Given the description of an element on the screen output the (x, y) to click on. 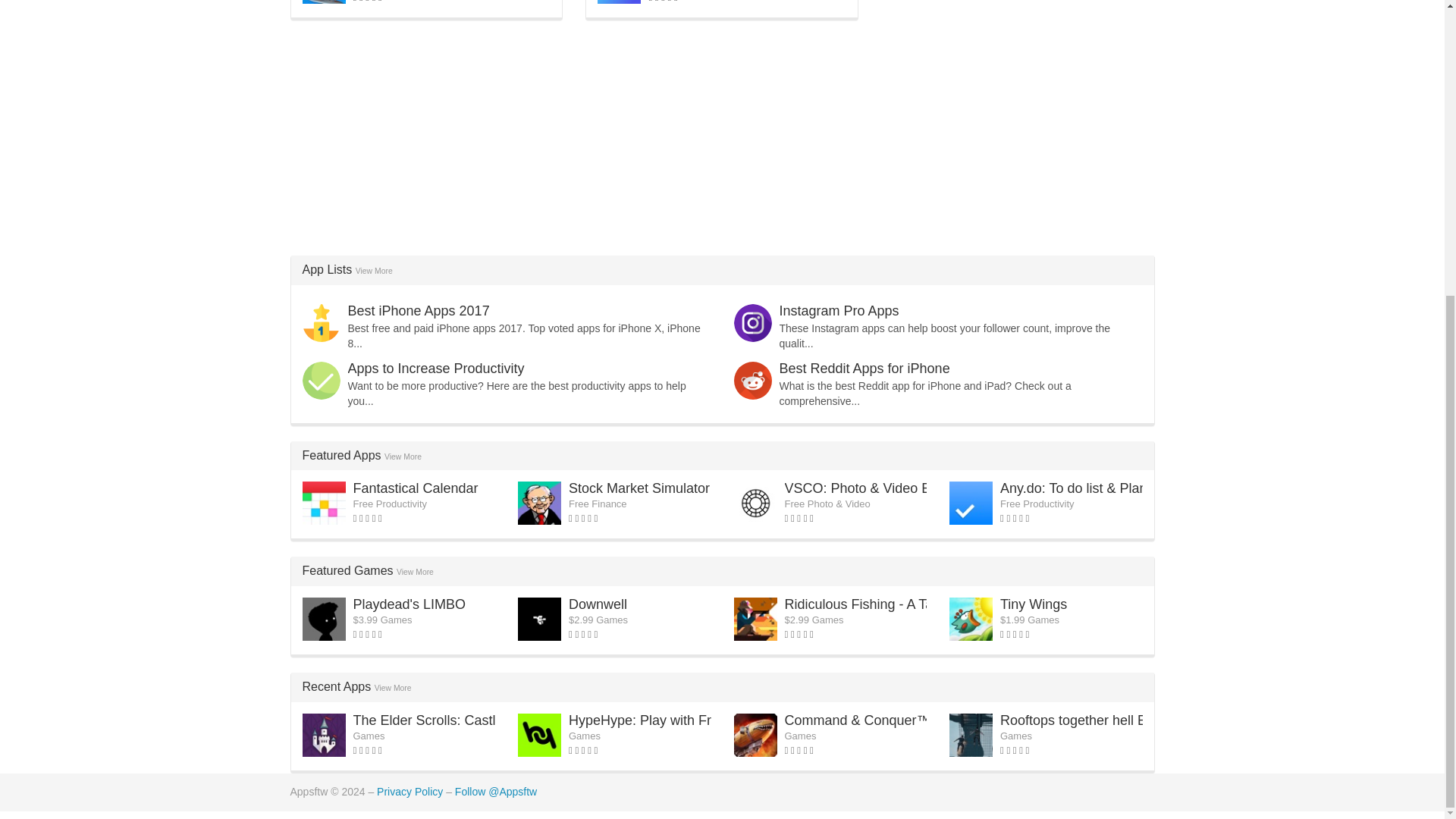
Instagram Pro Apps (838, 310)
Best iPhone Apps 2017 (418, 310)
Apps to Increase Productivity (435, 368)
